Given the description of an element on the screen output the (x, y) to click on. 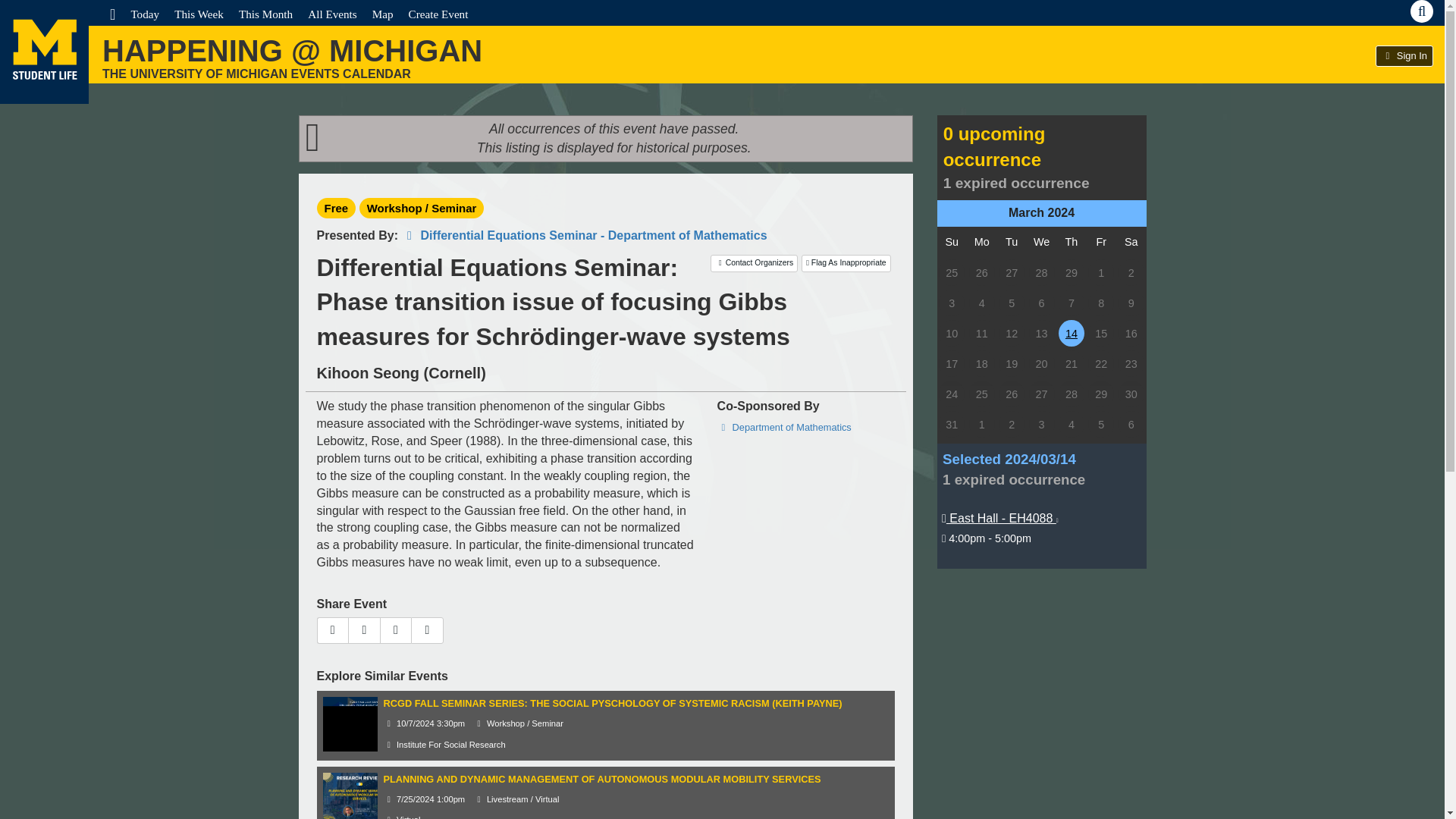
Share on Tumblr (396, 630)
Contact Organizers (753, 262)
Share on Facebook (363, 630)
Map (382, 13)
Differential Equations Seminar - Department of Mathematics (584, 235)
Department of Mathematics (784, 427)
Sunday (951, 241)
Create Event (438, 13)
All Events (331, 13)
This Month (265, 13)
Free (336, 208)
Share on Linkedin (427, 630)
Check out other Free events (336, 208)
This Week (199, 13)
